Given the description of an element on the screen output the (x, y) to click on. 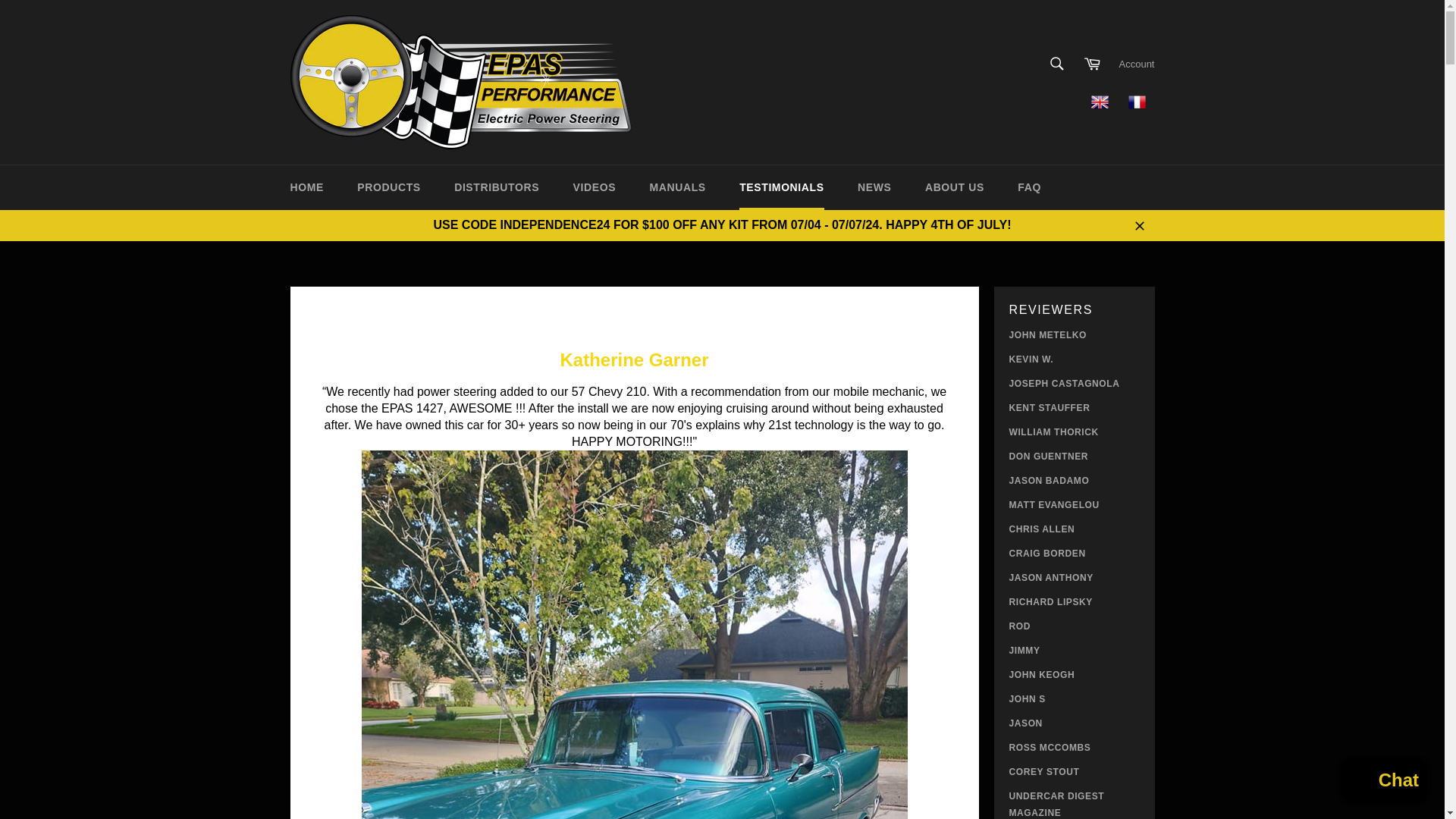
TESTIMONIALS (780, 187)
Cart (1091, 63)
Close (1139, 224)
VIDEOS (594, 187)
DISTRIBUTORS (496, 187)
Account (1136, 64)
Shopify online store chat (1383, 781)
MANUALS (677, 187)
NEWS (874, 187)
HOME (306, 187)
ABOUT US (954, 187)
PRODUCTS (388, 187)
Search (1057, 63)
FAQ (1030, 187)
